Given the description of an element on the screen output the (x, y) to click on. 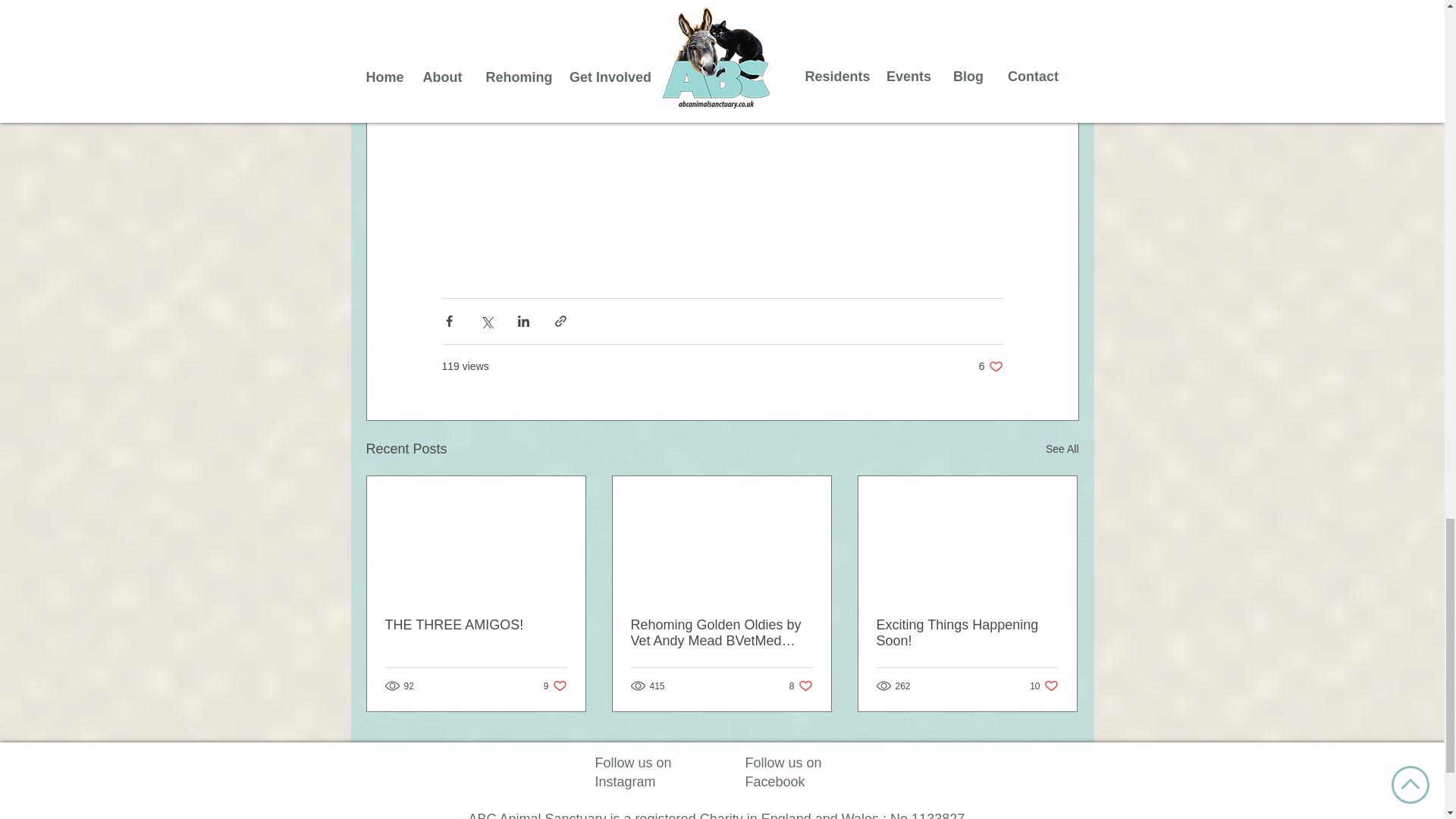
Rehoming Golden Oldies by Vet Andy Mead BVetMed MRCVS (800, 685)
See All (555, 685)
THE THREE AMIGOS! (721, 633)
Exciting Things Happening Soon! (1061, 449)
